Given the description of an element on the screen output the (x, y) to click on. 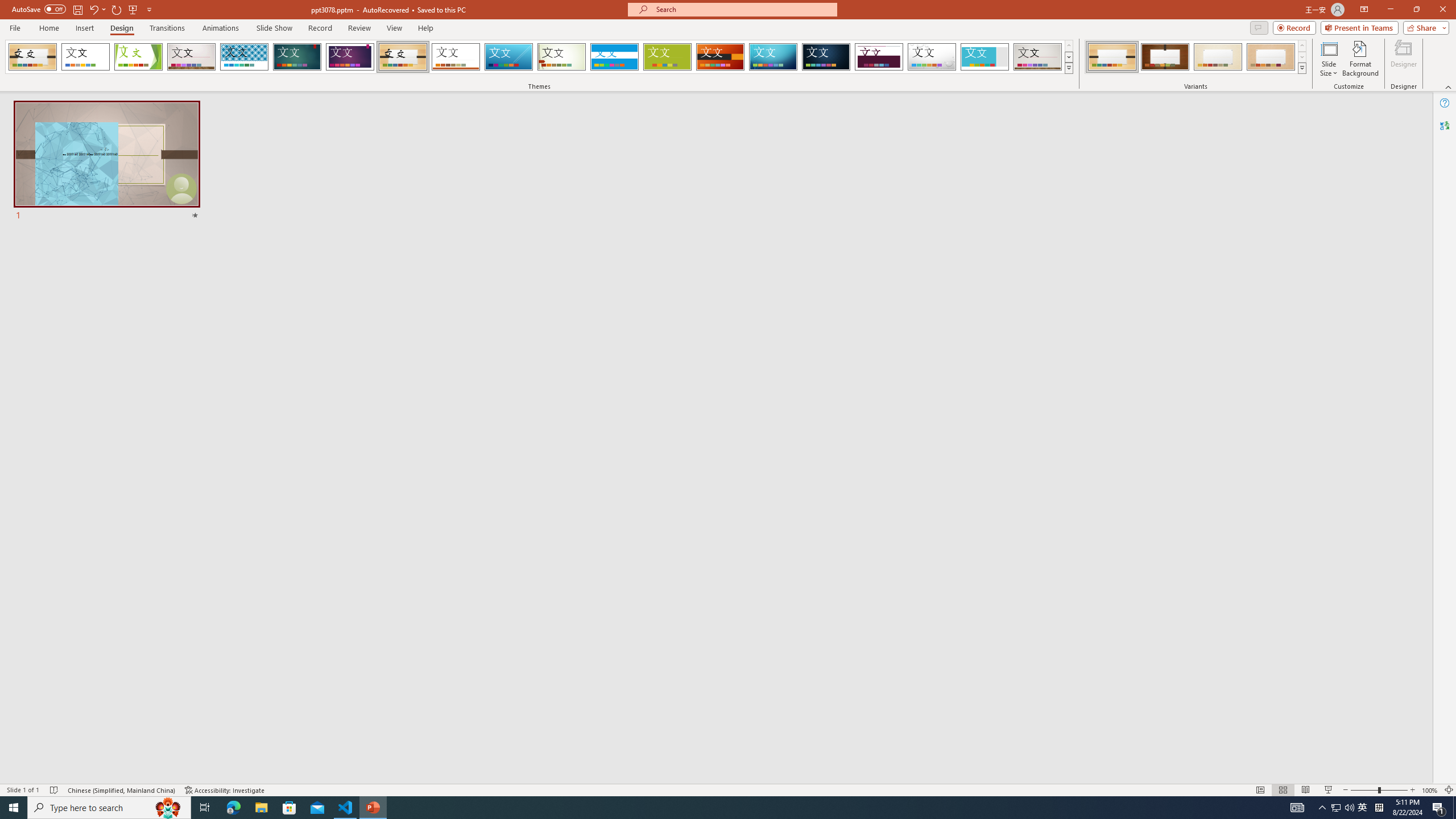
Circuit (772, 56)
Ion (296, 56)
Organic Variant 1 (1112, 56)
